Given the description of an element on the screen output the (x, y) to click on. 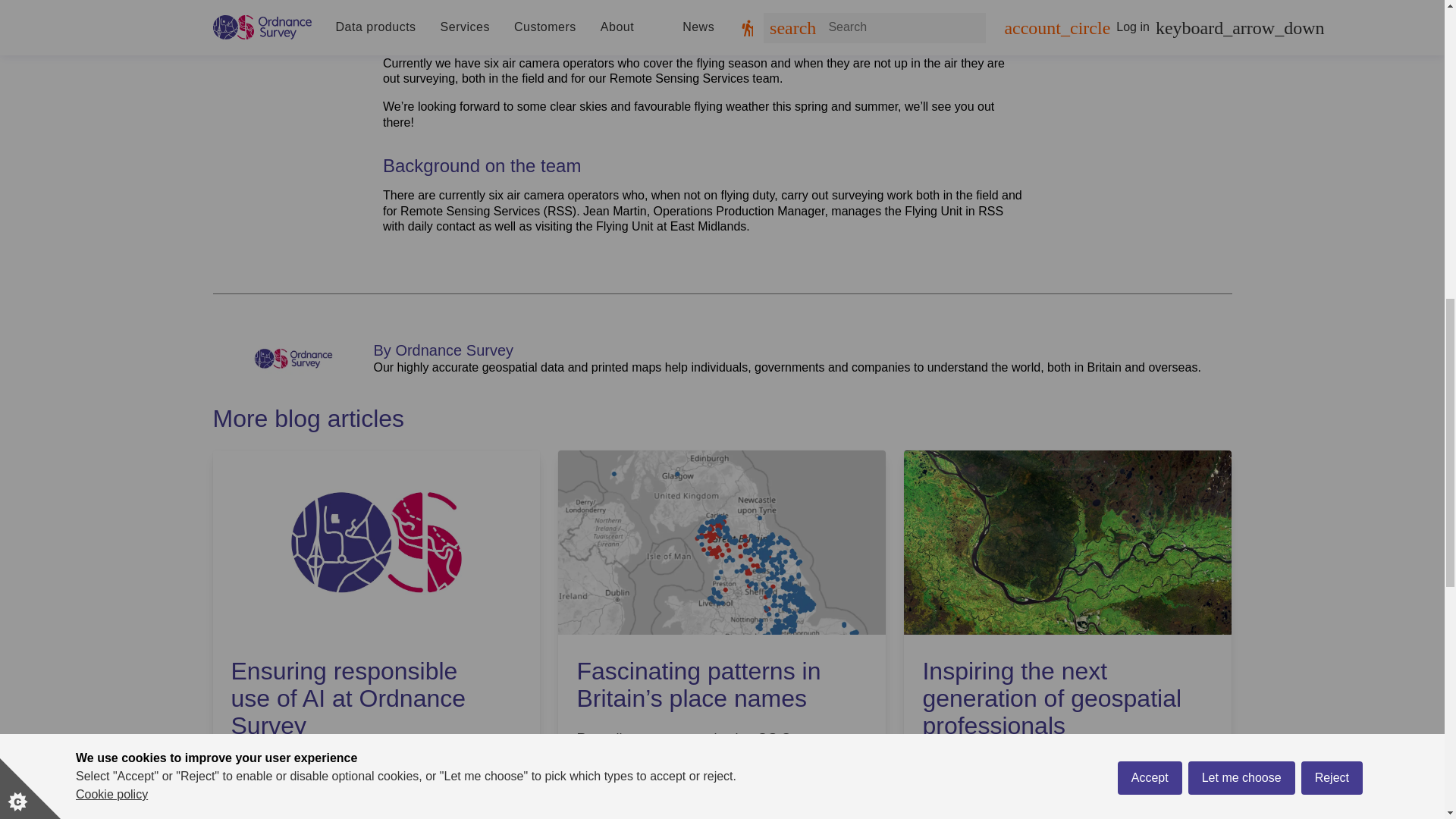
Cookie policy (111, 24)
Ensuring responsible use of AI at Ordnance Survey (362, 698)
Accept (1150, 9)
Inspiring the next generation of geospatial professionals (1053, 698)
Let me choose (1241, 2)
Reject (1331, 0)
